Given the description of an element on the screen output the (x, y) to click on. 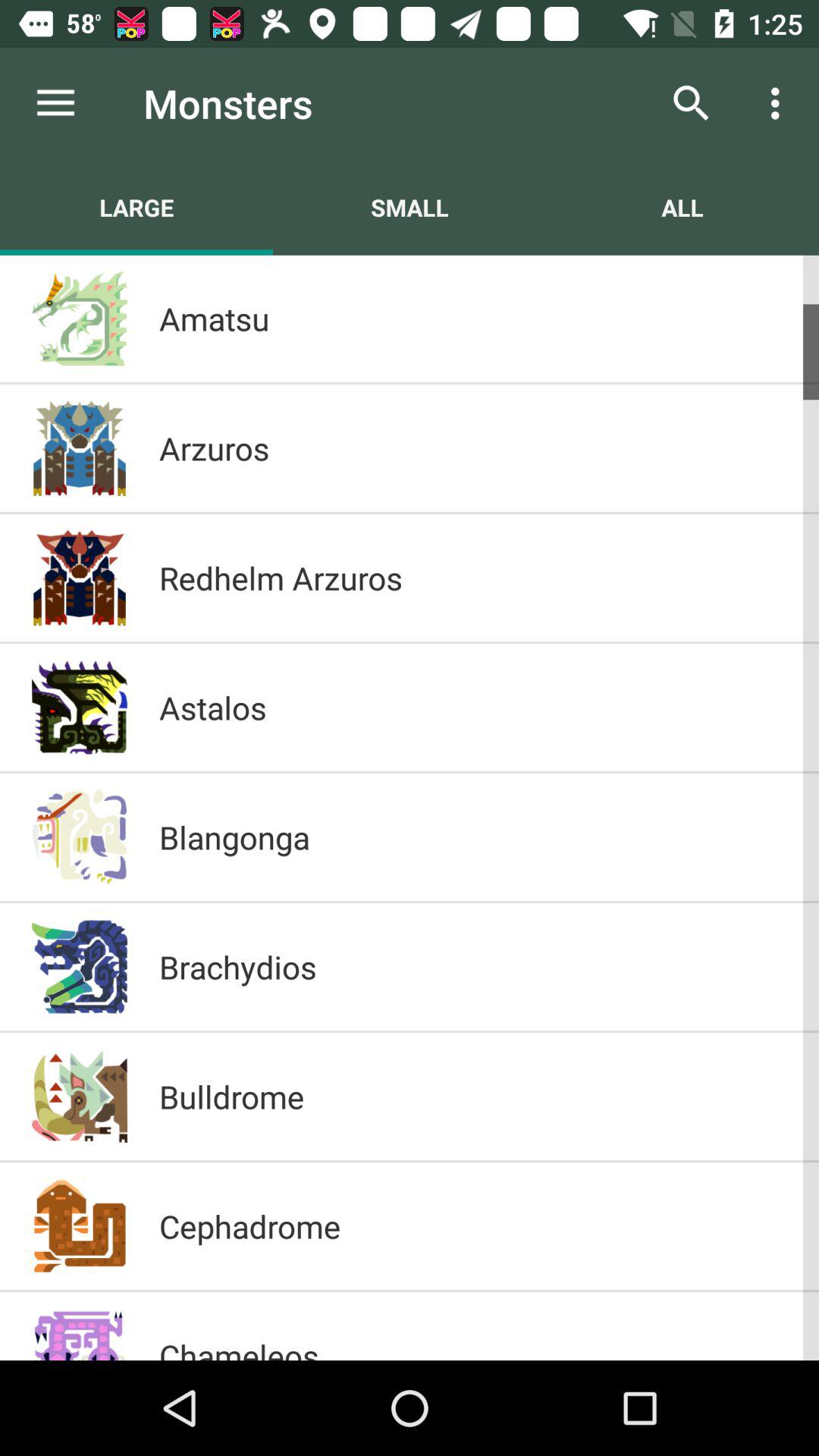
scroll until redhelm arzuros (473, 577)
